Given the description of an element on the screen output the (x, y) to click on. 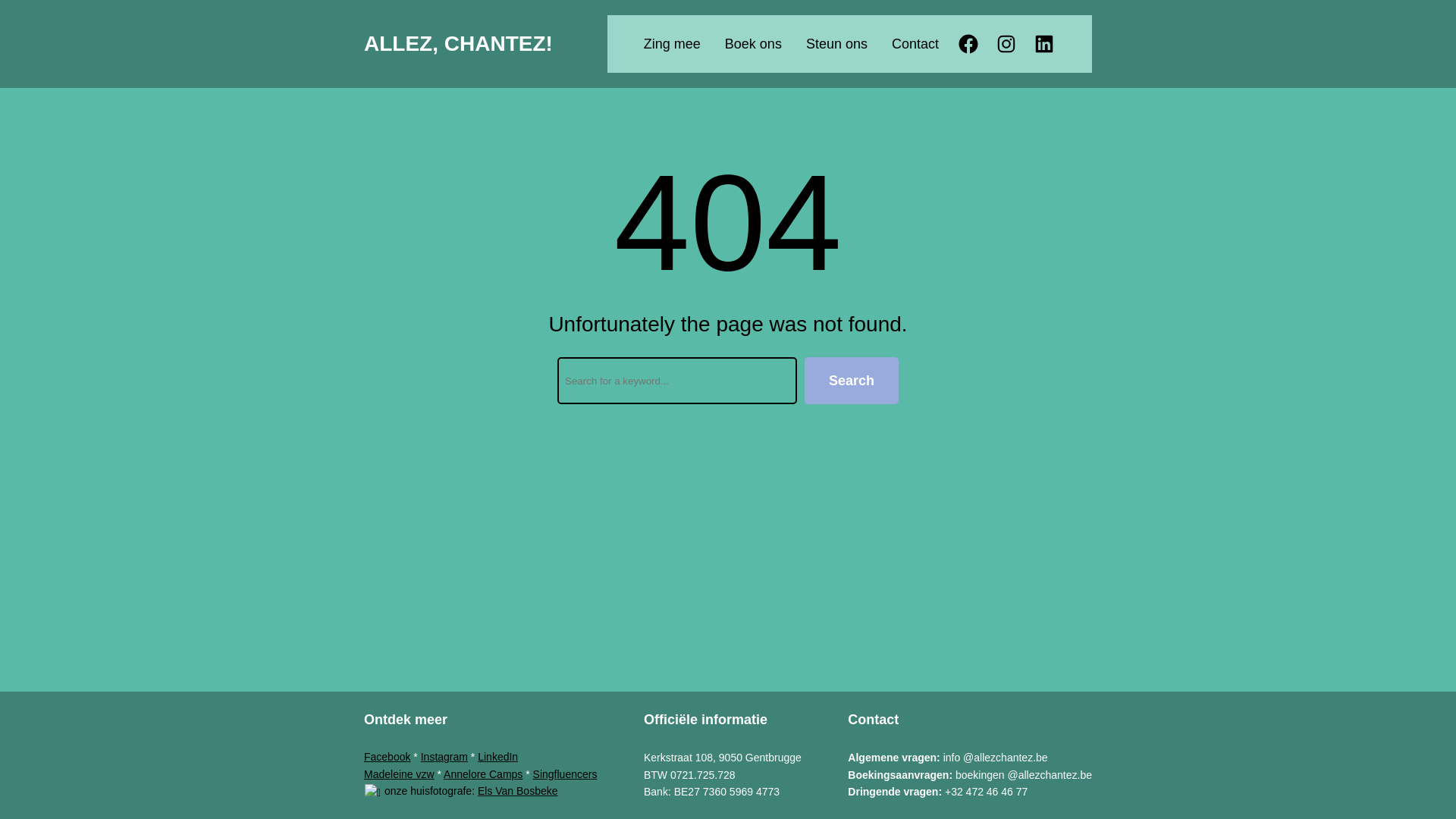
ALLEZ, CHANTEZ! Element type: text (458, 43)
Facebook Element type: text (968, 43)
Contact Element type: text (914, 43)
Zing mee Element type: text (671, 43)
Instagram Element type: text (443, 756)
Steun ons Element type: text (836, 43)
Singfluencers Element type: text (565, 774)
Els Van Bosbeke Element type: text (517, 790)
LinkedIn Element type: text (497, 756)
Facebook Element type: text (387, 756)
Instagram Element type: text (1005, 43)
Annelore Camps Element type: text (482, 774)
Search Element type: text (851, 380)
Madeleine vzw Element type: text (399, 774)
LinkedIn Element type: text (1043, 43)
Boek ons Element type: text (752, 43)
